Given the description of an element on the screen output the (x, y) to click on. 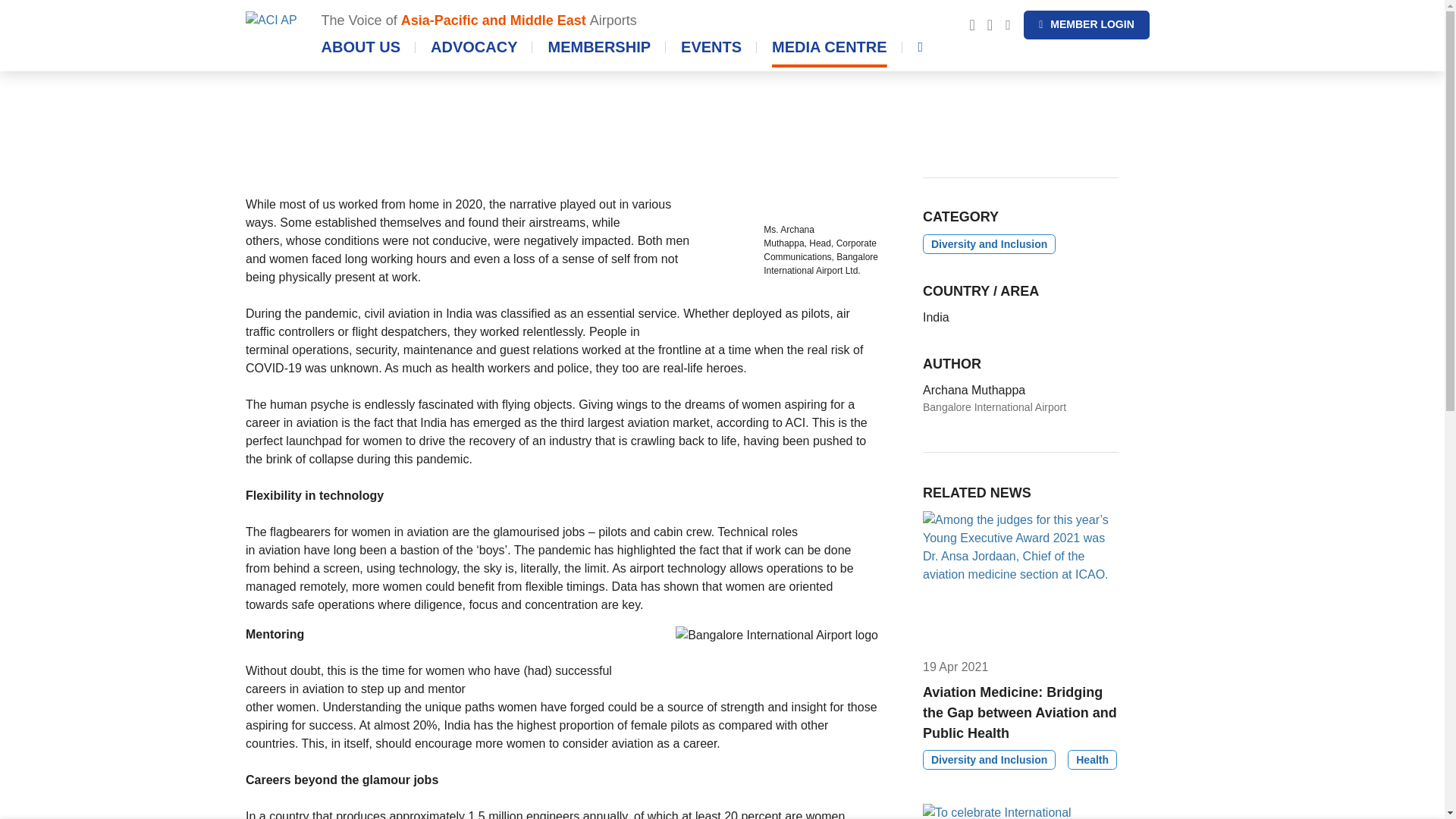
ADVOCACY (645, 20)
ABOUT US (473, 51)
